Given the description of an element on the screen output the (x, y) to click on. 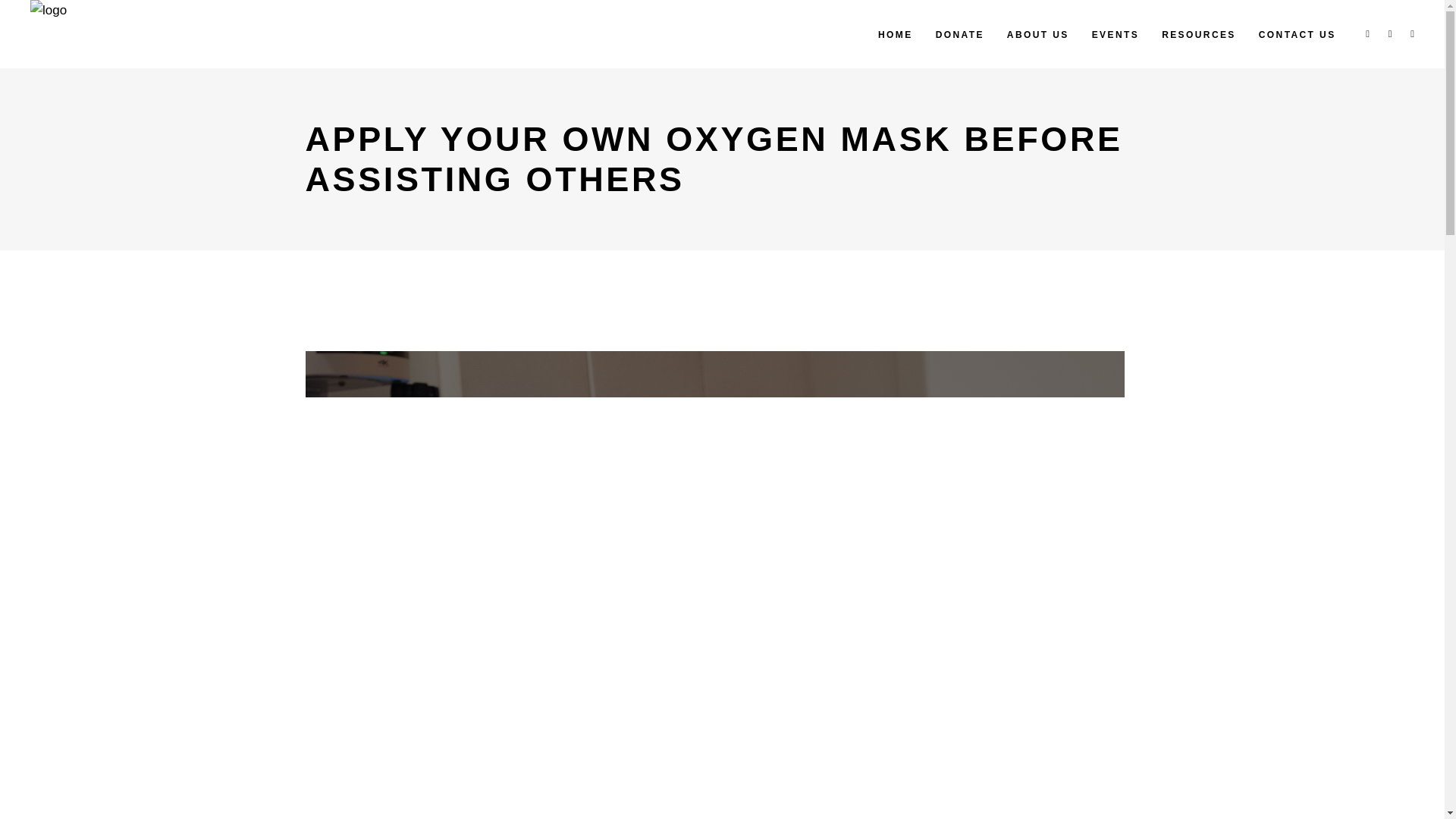
CONTACT US (1297, 33)
DONATE (959, 33)
EVENTS (1115, 33)
RESOURCES (1198, 33)
ABOUT US (1037, 33)
